Given the description of an element on the screen output the (x, y) to click on. 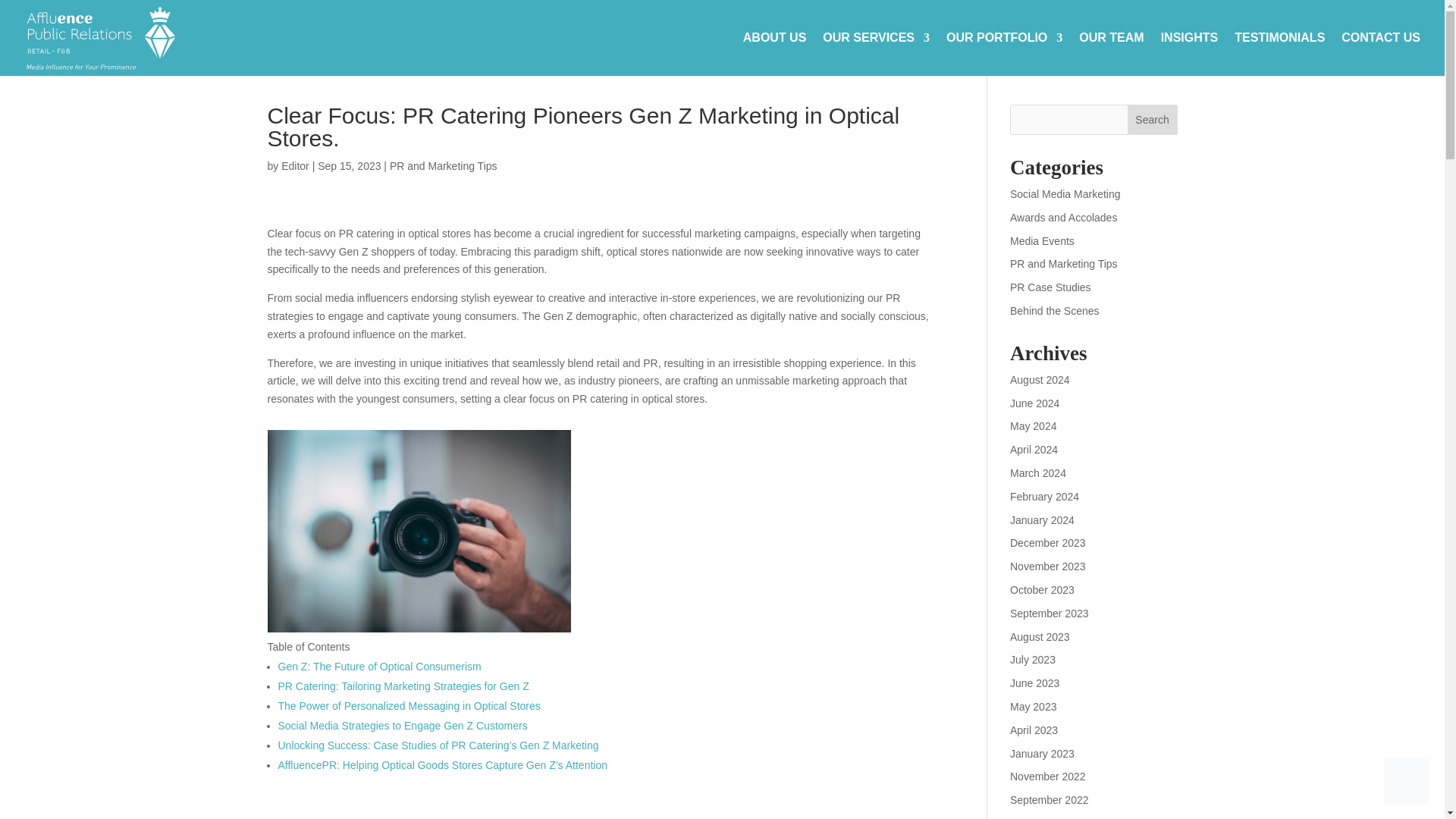
Unlocking Success: Case Studies of PR Catering (438, 745)
PR and Marketing Tips (1064, 263)
Social Media Marketing (1065, 193)
AffluencePR: Helping Optical Goods Stores Capture Gen Z (442, 765)
PR Case Studies (1050, 287)
The Power of Personalized Messaging in Optical Stores (409, 705)
INSIGHTS (1189, 53)
OUR PORTFOLIO (1004, 53)
PR Catering: Tailoring Marketing Strategies for Gen Z (403, 686)
PR Catering: Tailoring Marketing Strategies for Gen Z (403, 686)
